Given the description of an element on the screen output the (x, y) to click on. 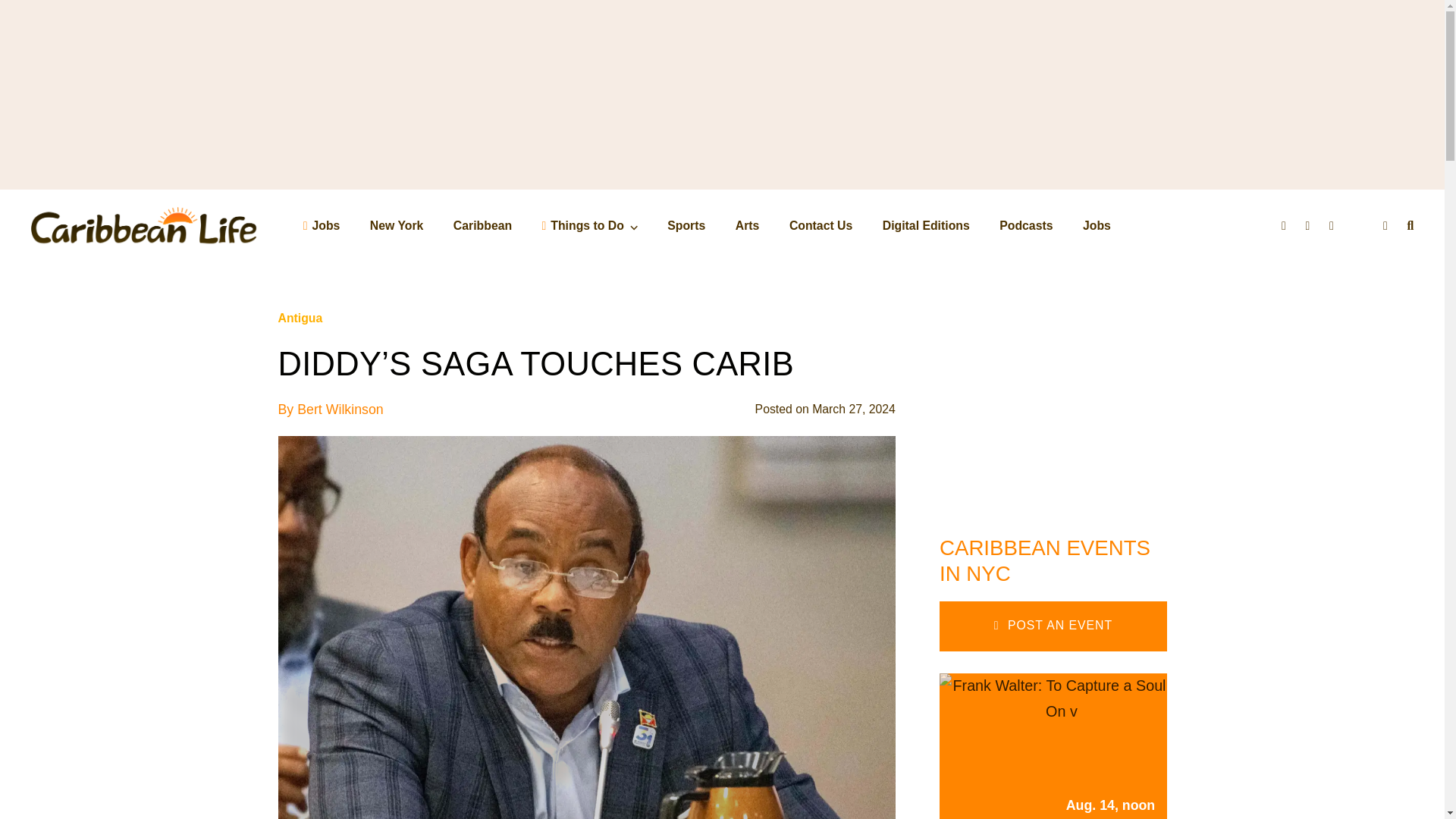
Sports (685, 225)
Arts (747, 225)
Things to Do (589, 225)
Jobs (1096, 225)
Podcasts (1025, 225)
New York (396, 225)
Digital Editions (925, 225)
Jobs (321, 225)
Caribbean (482, 225)
Contact Us (820, 225)
